Given the description of an element on the screen output the (x, y) to click on. 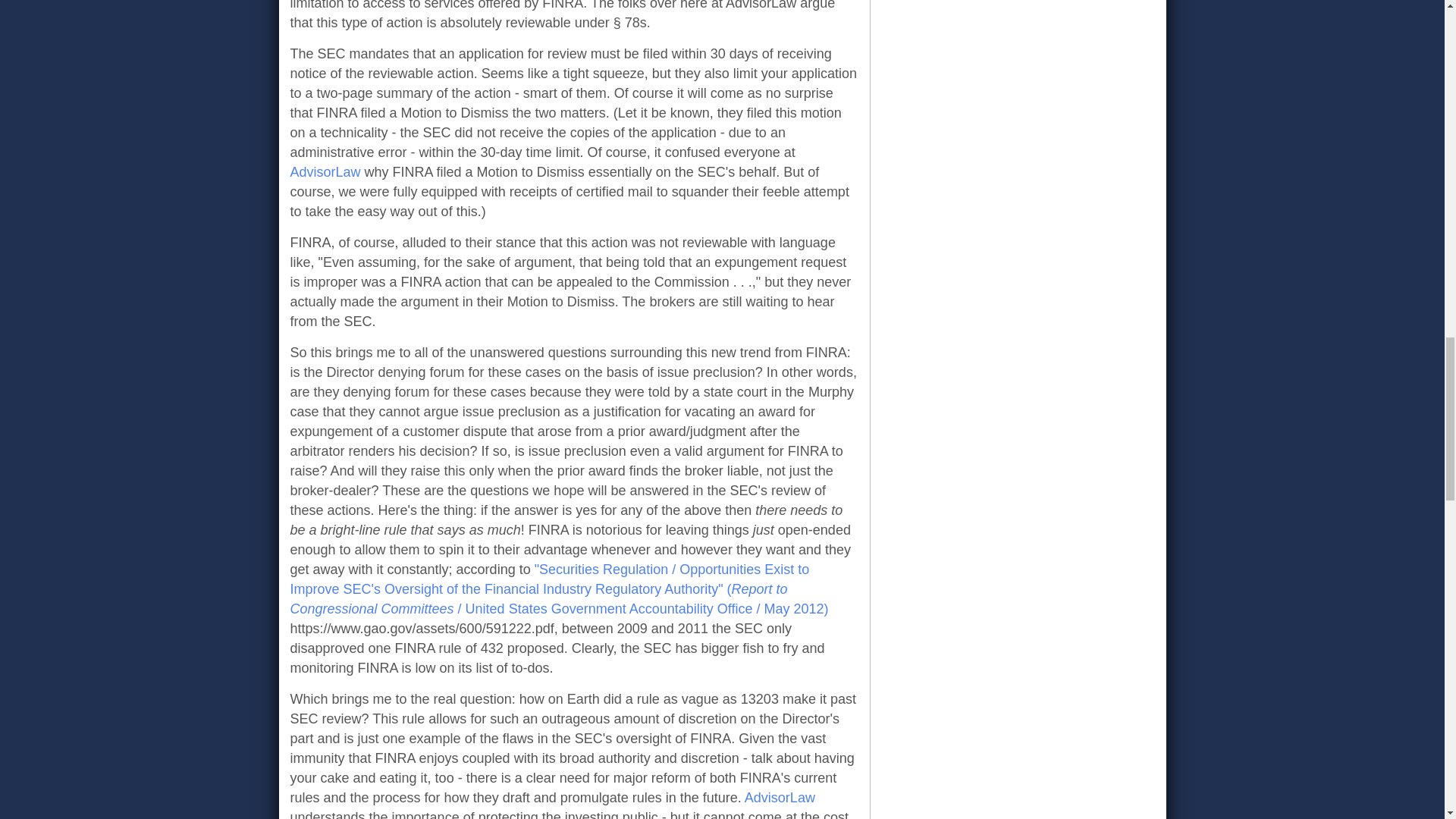
AdvisorLaw (779, 797)
AdvisorLaw (324, 171)
